Given the description of an element on the screen output the (x, y) to click on. 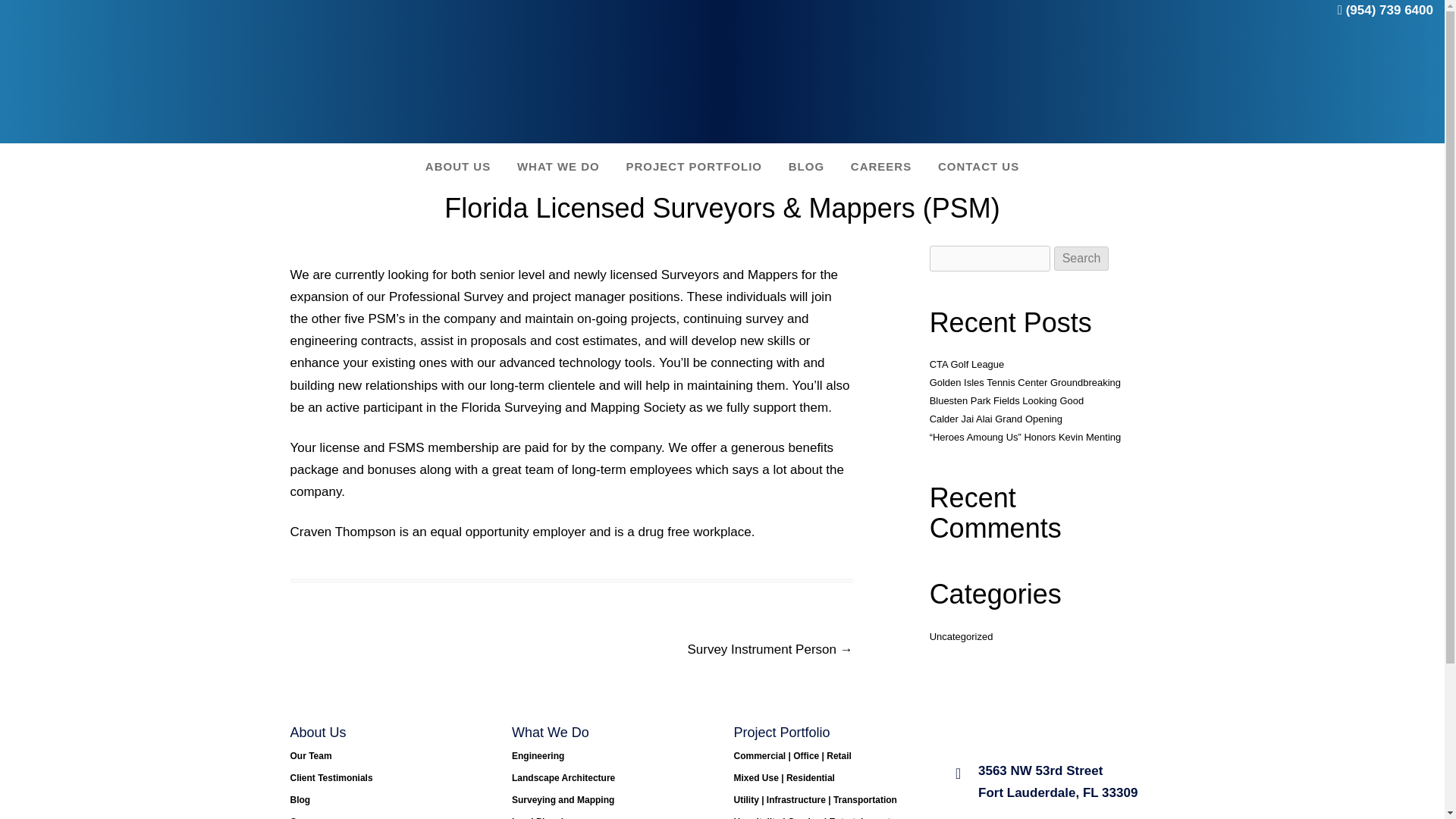
BLOG (806, 165)
Client Testimonials (330, 777)
ABOUT US (458, 165)
Golden Isles Tennis Center Groundbreaking (1025, 382)
CTA Golf League (967, 364)
Project Portfolio (695, 165)
What We Do (558, 165)
Our Team (310, 756)
Calder Jai Alai Grand Opening (996, 419)
Blog (299, 799)
